Given the description of an element on the screen output the (x, y) to click on. 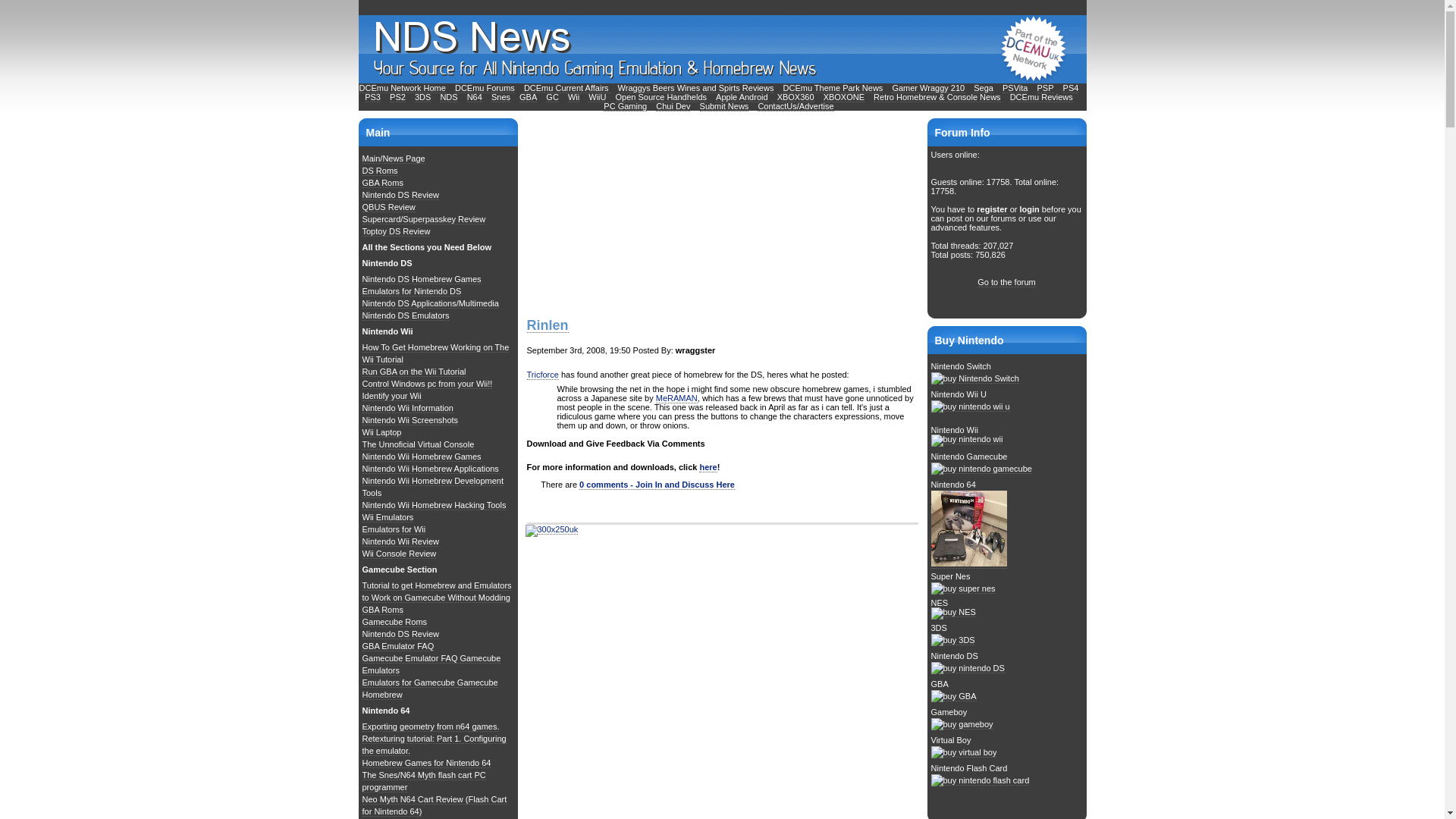
DCEmu Reviews (1041, 97)
Toptoy DS Review (396, 231)
Wii (573, 97)
GBA Roms (382, 183)
Submit News (724, 106)
3DS (422, 97)
DCEmu Forums (484, 88)
DCEmu Current Affairs (567, 88)
Nintendo DS Homebrew Games (421, 279)
PS4 (1070, 88)
